Given the description of an element on the screen output the (x, y) to click on. 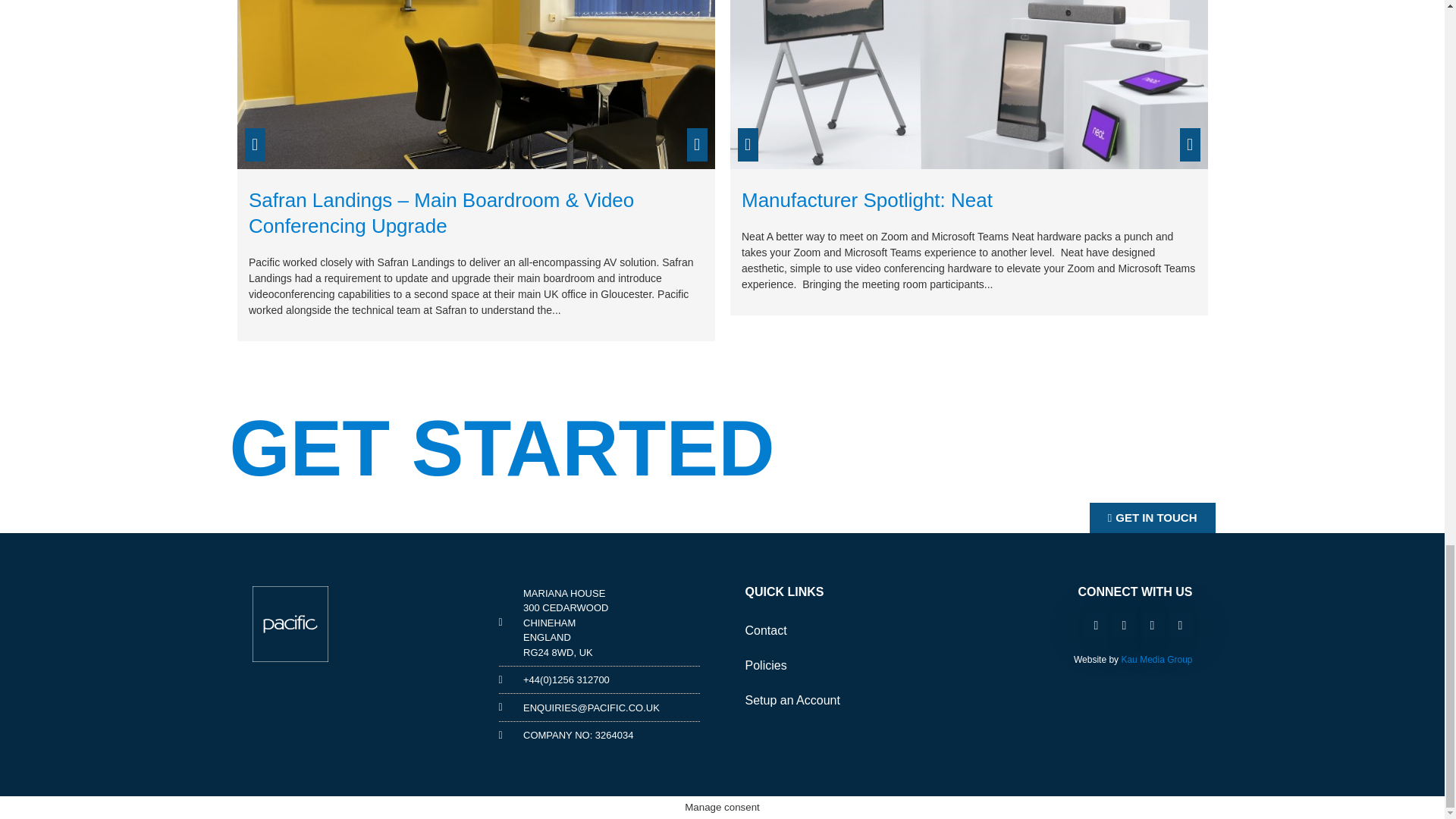
Manufacturer Spotlight: Neat (866, 200)
